Given the description of an element on the screen output the (x, y) to click on. 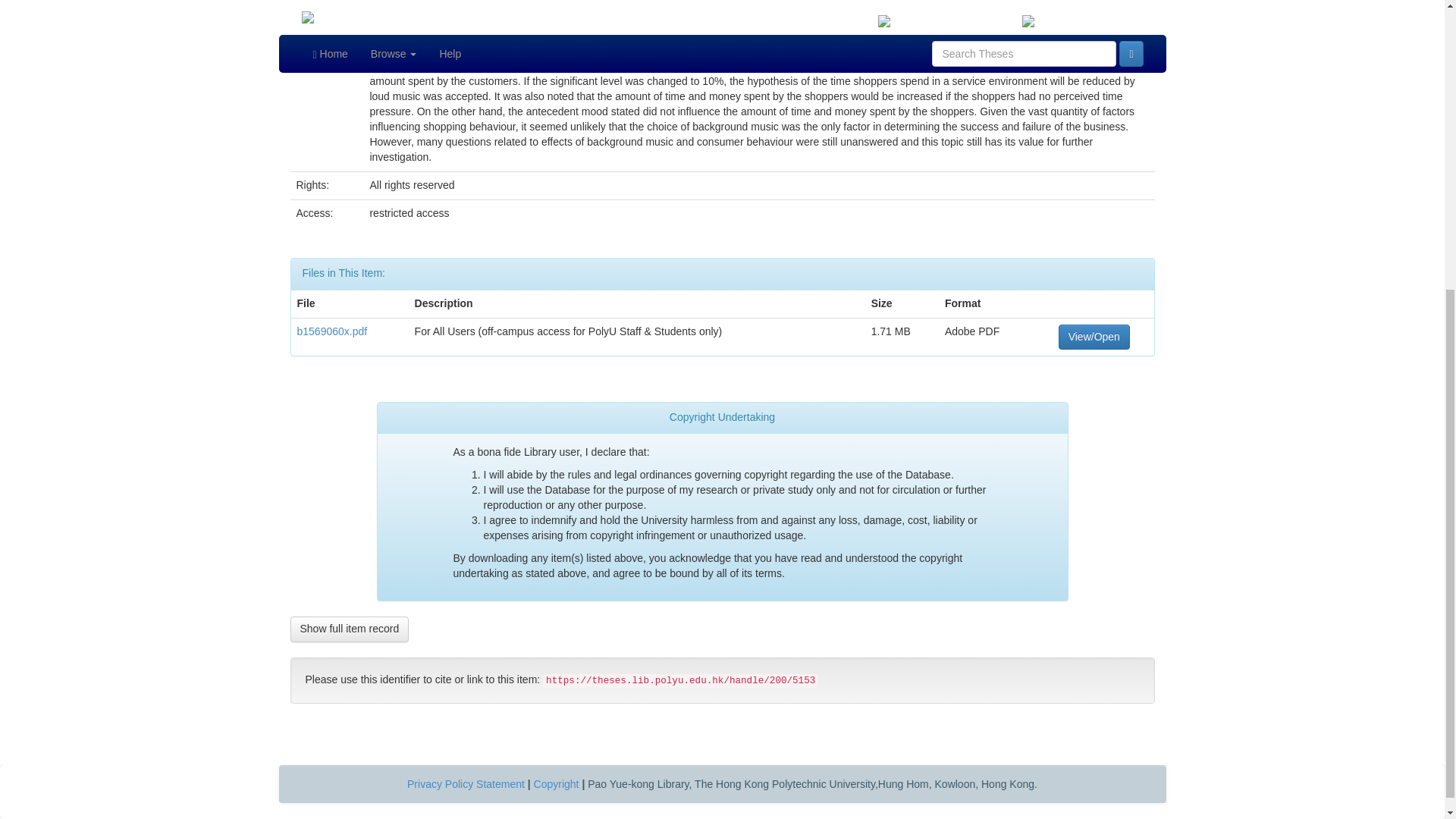
b1569060x.pdf (332, 330)
Privacy Policy Statement (465, 784)
Show full item record (349, 629)
Copyright (556, 784)
